Given the description of an element on the screen output the (x, y) to click on. 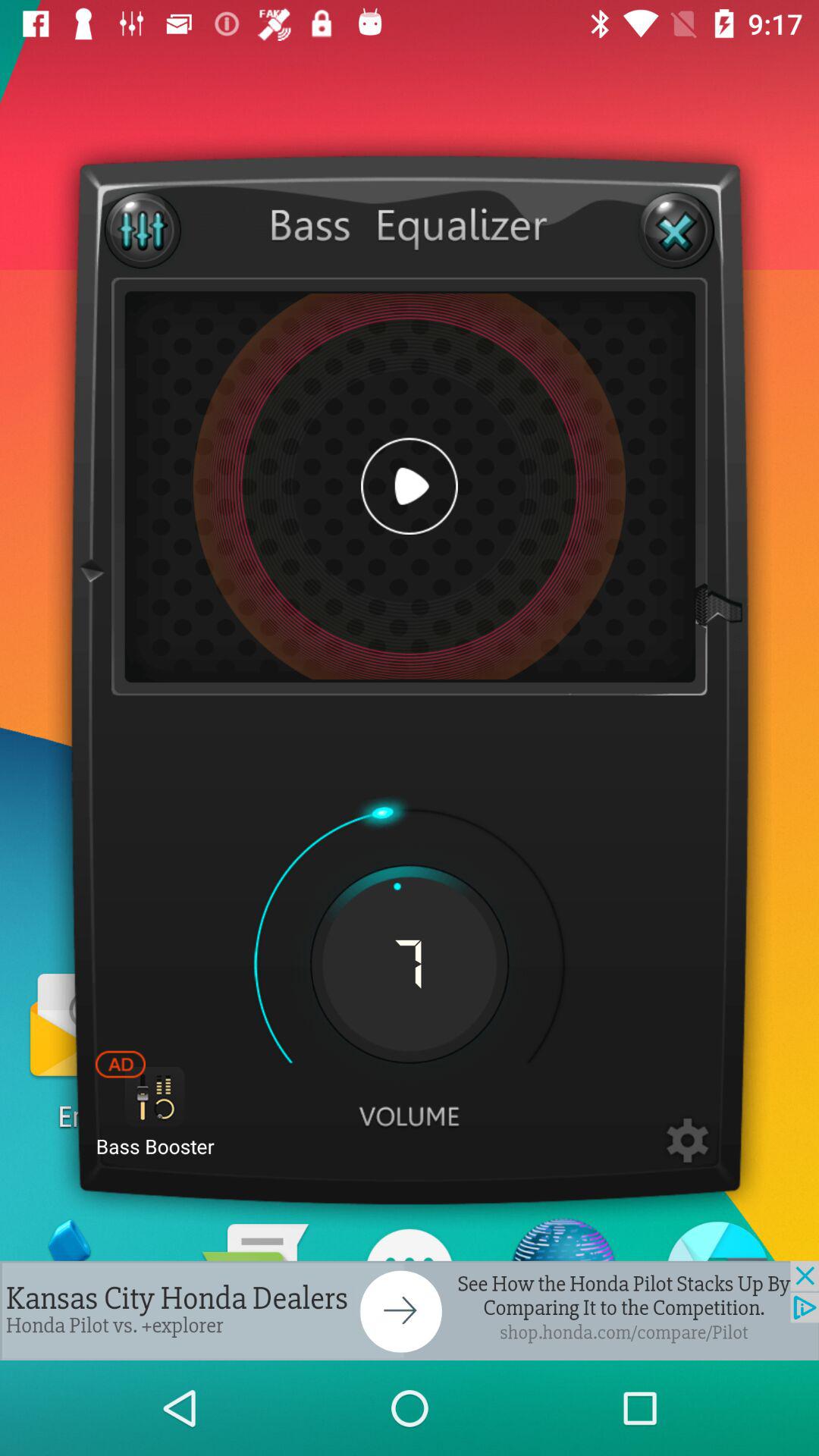
play the music (409, 485)
